Given the description of an element on the screen output the (x, y) to click on. 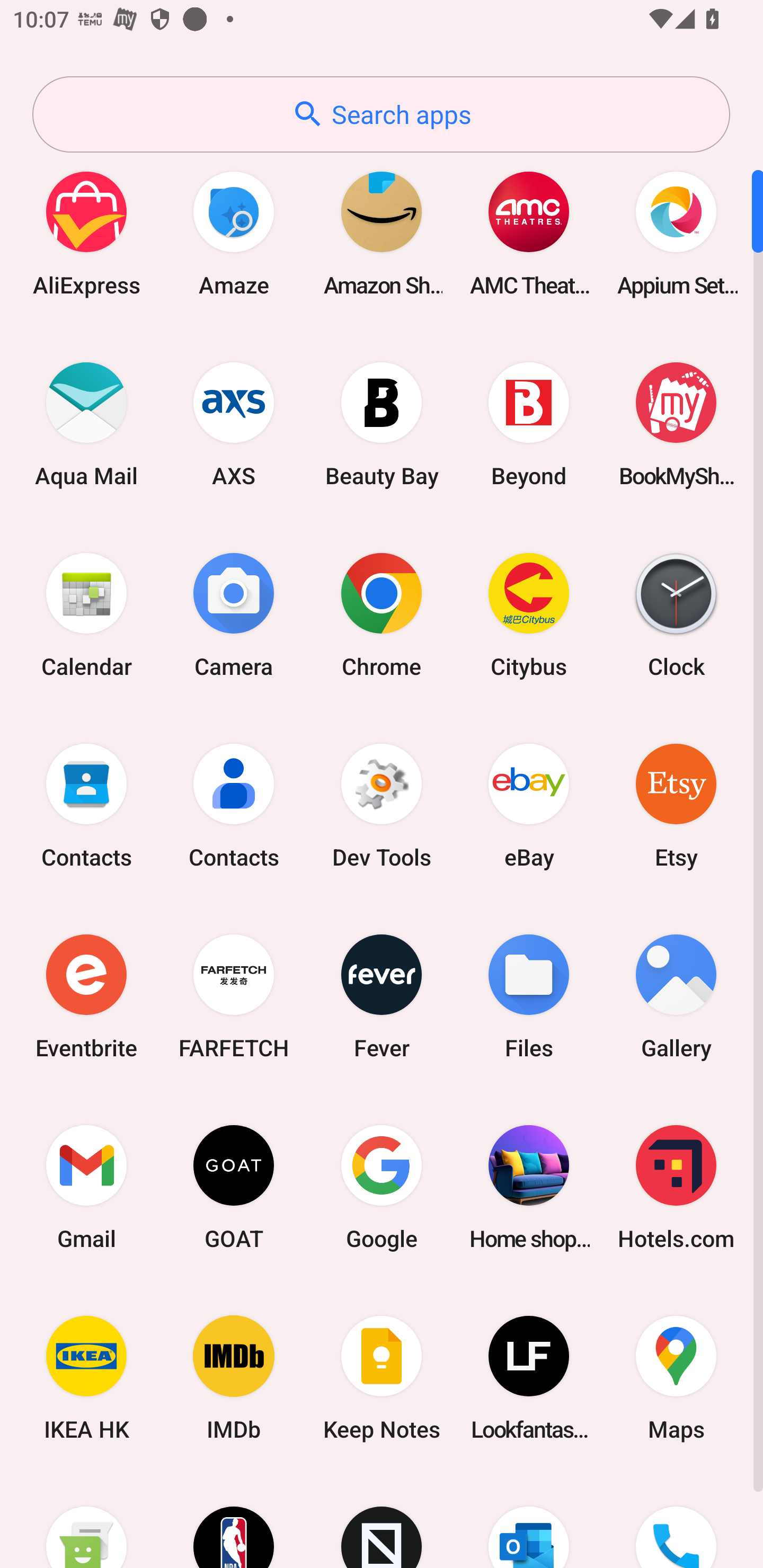
  Search apps (381, 114)
AliExpress (86, 233)
Amaze (233, 233)
Amazon Shopping (381, 233)
AMC Theatres (528, 233)
Appium Settings (676, 233)
Aqua Mail (86, 424)
AXS (233, 424)
Beauty Bay (381, 424)
Beyond (528, 424)
BookMyShow (676, 424)
Calendar (86, 614)
Camera (233, 614)
Chrome (381, 614)
Citybus (528, 614)
Clock (676, 614)
Contacts (86, 805)
Contacts (233, 805)
Dev Tools (381, 805)
eBay (528, 805)
Etsy (676, 805)
Eventbrite (86, 996)
FARFETCH (233, 996)
Fever (381, 996)
Files (528, 996)
Gallery (676, 996)
Gmail (86, 1186)
GOAT (233, 1186)
Google (381, 1186)
Home shopping (528, 1186)
Hotels.com (676, 1186)
IKEA HK (86, 1377)
IMDb (233, 1377)
Keep Notes (381, 1377)
Lookfantastic (528, 1377)
Maps (676, 1377)
